Given the description of an element on the screen output the (x, y) to click on. 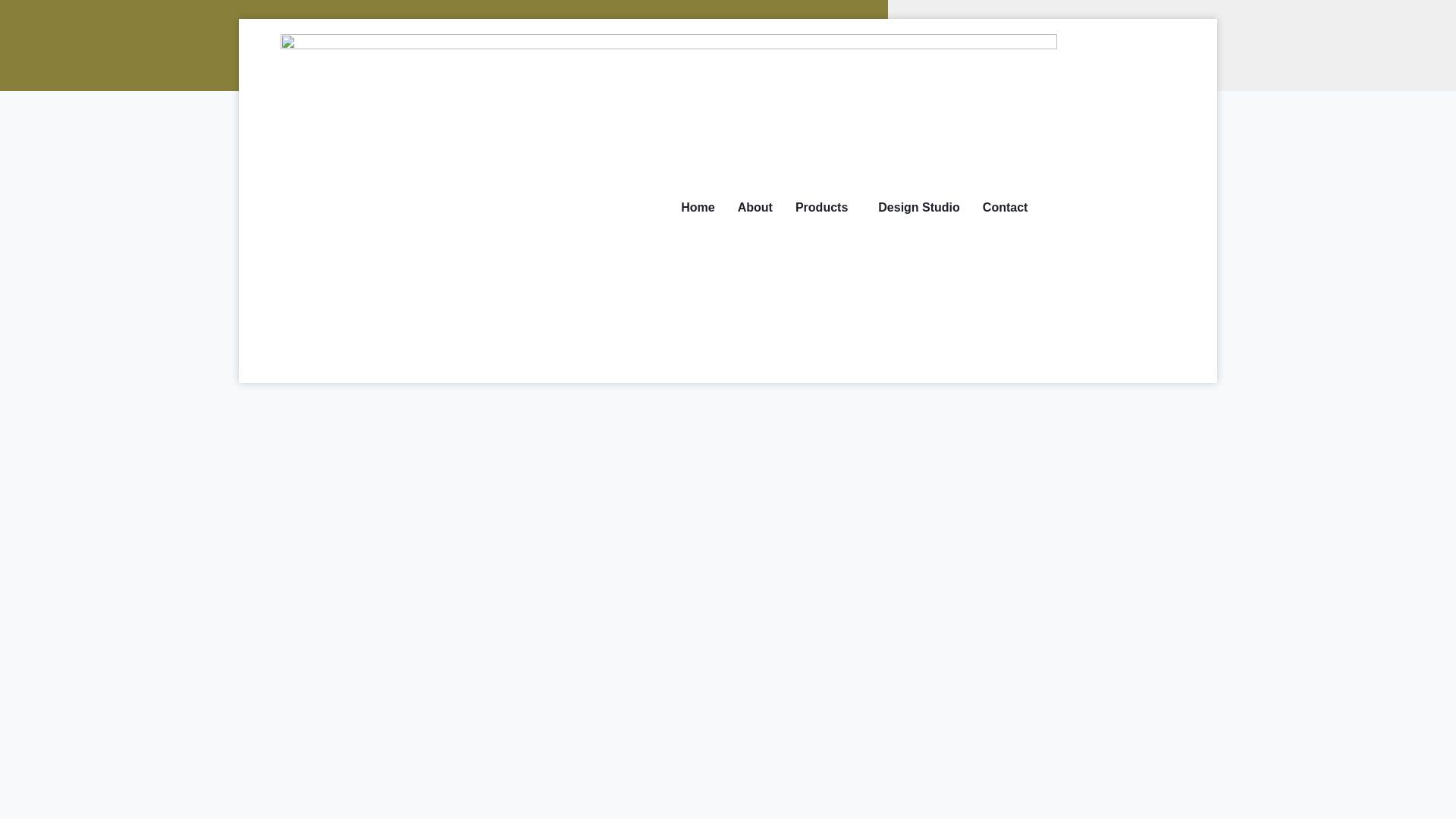
Contact (1005, 207)
Design Studio (918, 207)
Products (825, 207)
Home (697, 207)
About (755, 207)
